Given the description of an element on the screen output the (x, y) to click on. 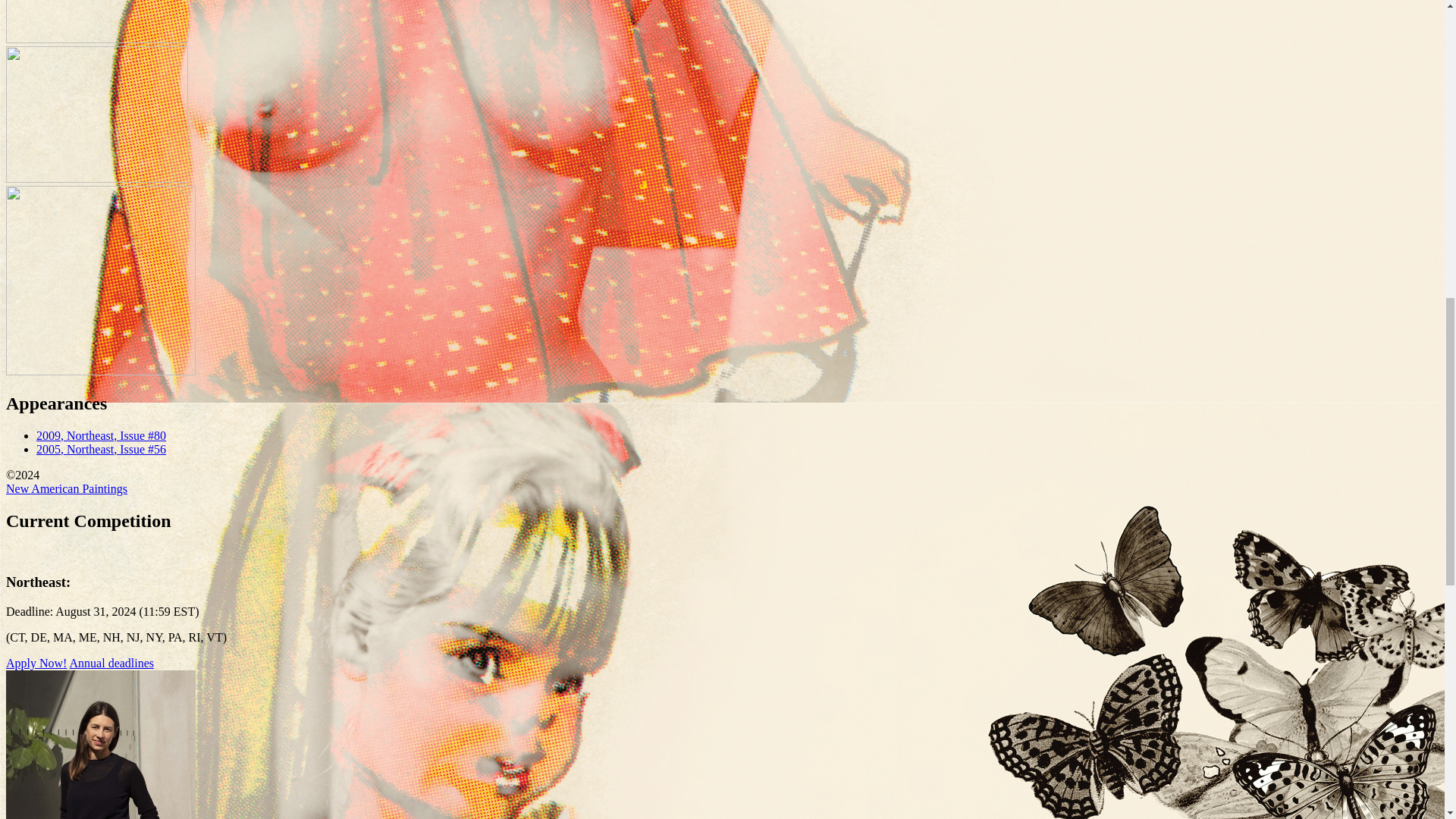
Annual deadlines (111, 662)
Apply Now! (35, 662)
New American Paintings (66, 488)
